Given the description of an element on the screen output the (x, y) to click on. 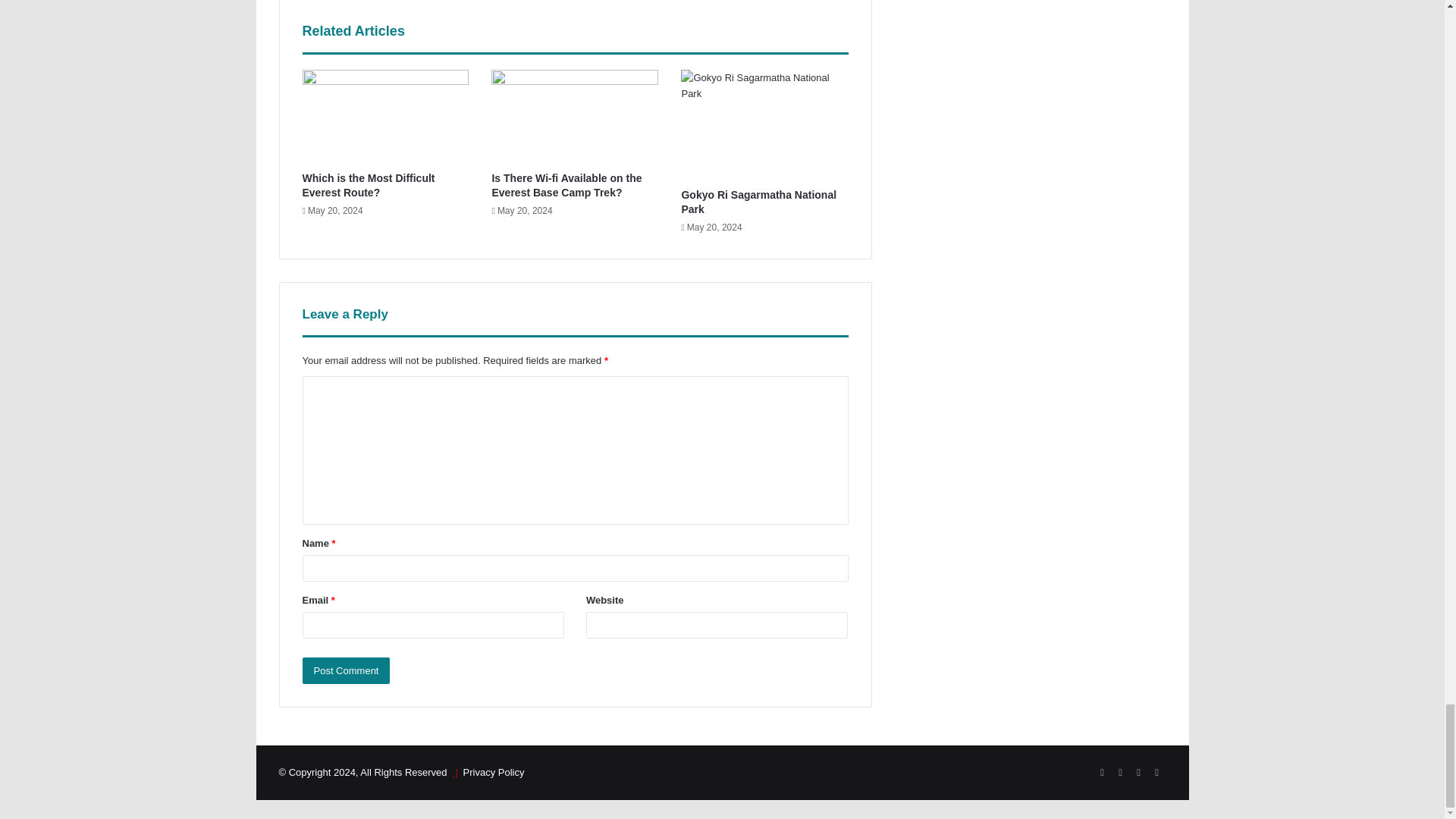
Post Comment (345, 670)
